Given the description of an element on the screen output the (x, y) to click on. 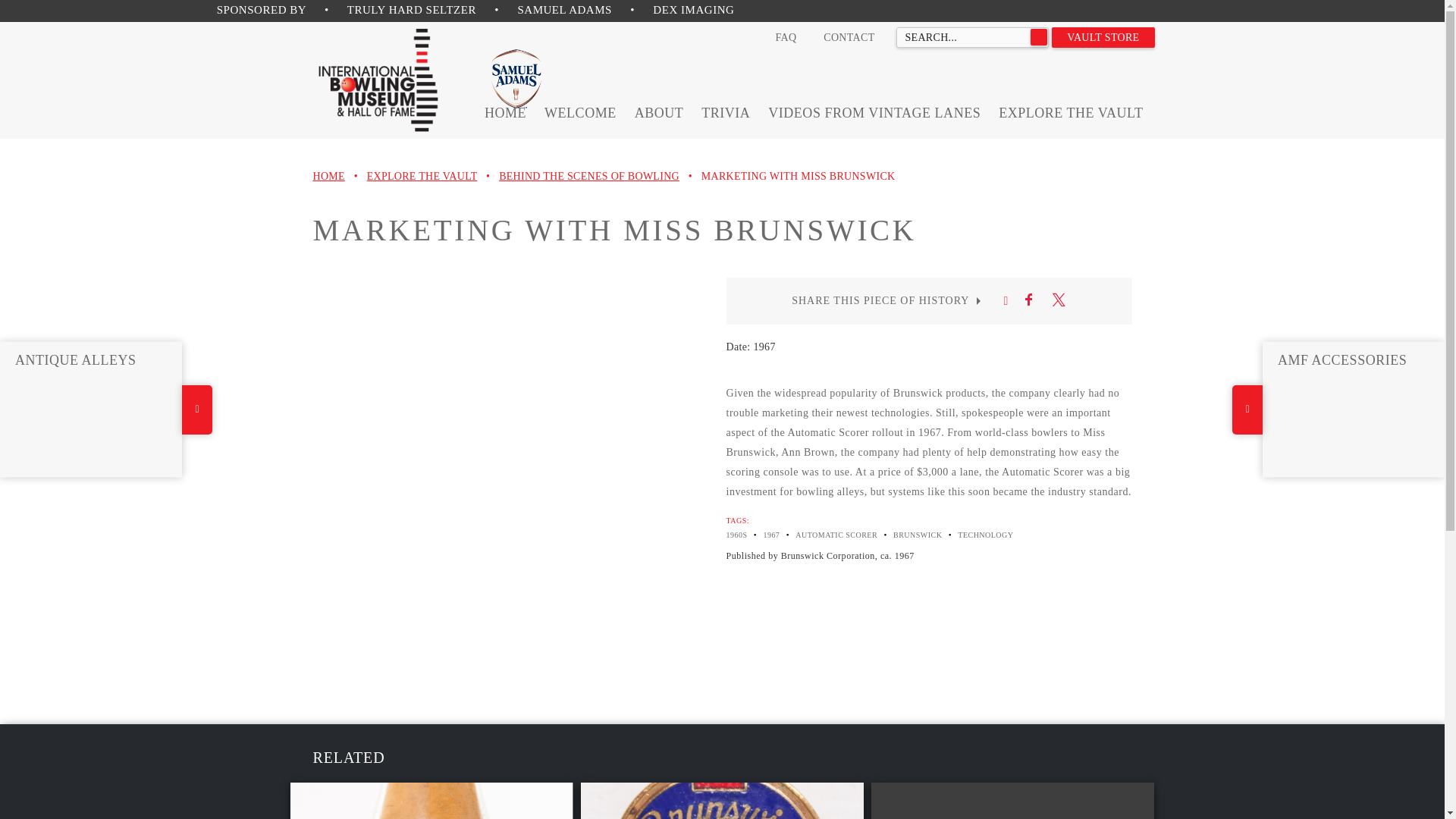
WELCOME (579, 112)
VAULT STORE (1102, 37)
TECHNOLOGY (985, 534)
TRIVIA (725, 112)
VIDEOS FROM VINTAGE LANES (873, 112)
HOME (504, 112)
HOME (328, 175)
BEHIND THE SCENES OF BOWLING (589, 175)
ABOUT (659, 112)
